Given the description of an element on the screen output the (x, y) to click on. 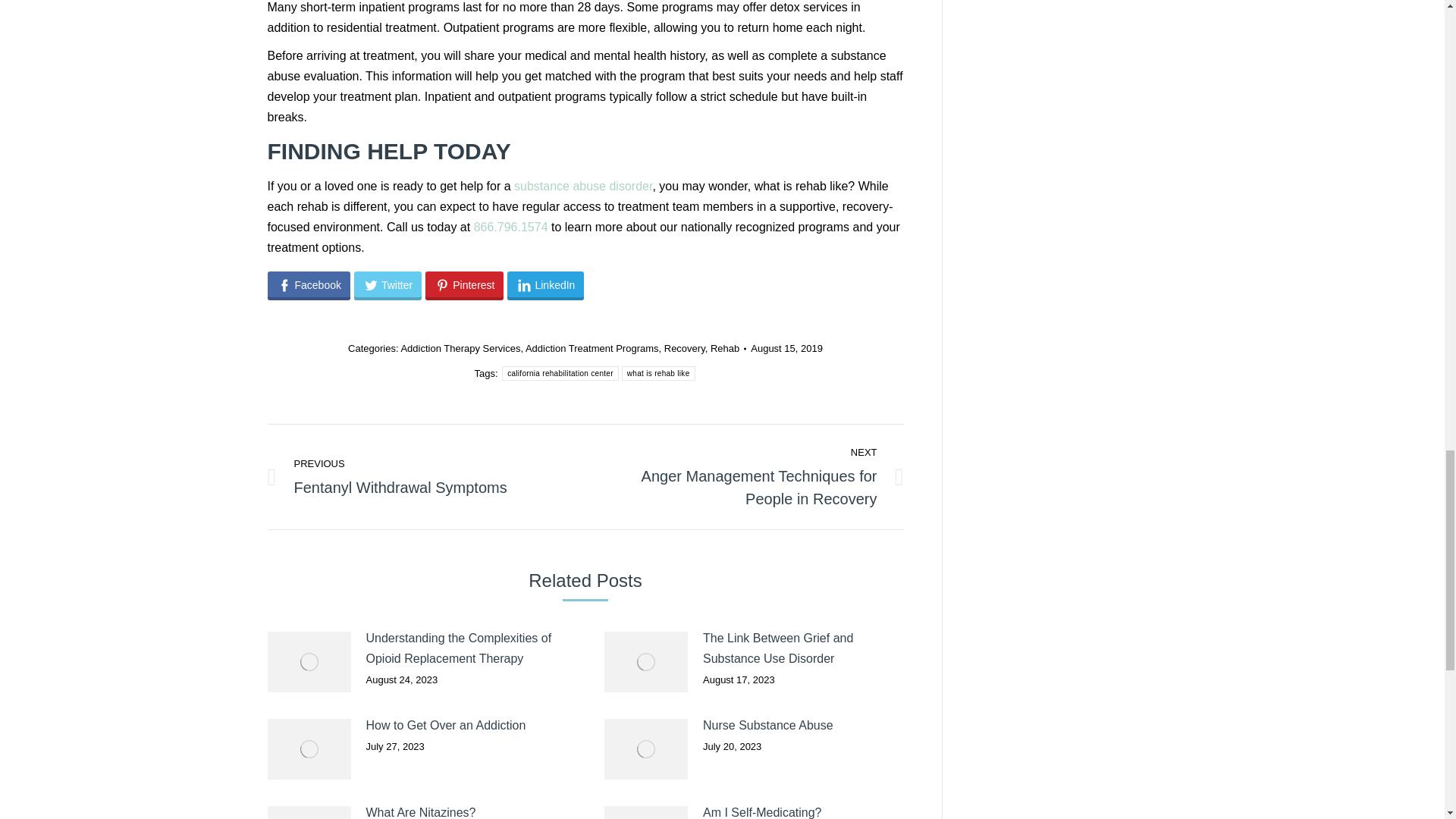
9:00 am (786, 348)
